Given the description of an element on the screen output the (x, y) to click on. 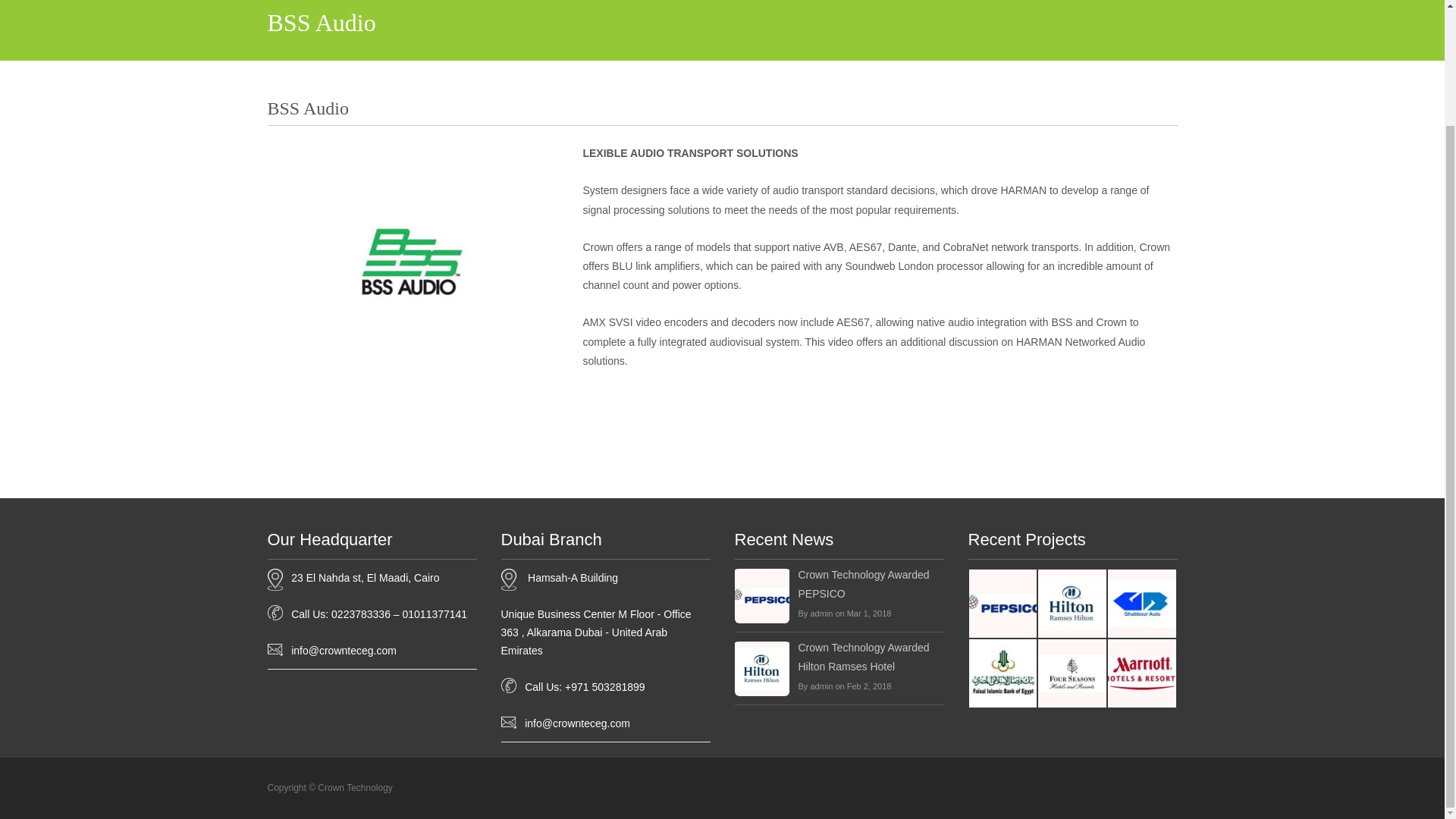
Faisal Islamic Bank (1002, 672)
PEPSICO (1002, 603)
Crown Technology Awarded PEPSICO (870, 584)
Crown Technology Awarded Hilton Ramses Hotel (870, 657)
Ghabbour (1142, 603)
Hilton Ramses Hotel (1072, 603)
Four Seasons Hotels (1072, 672)
